Given the description of an element on the screen output the (x, y) to click on. 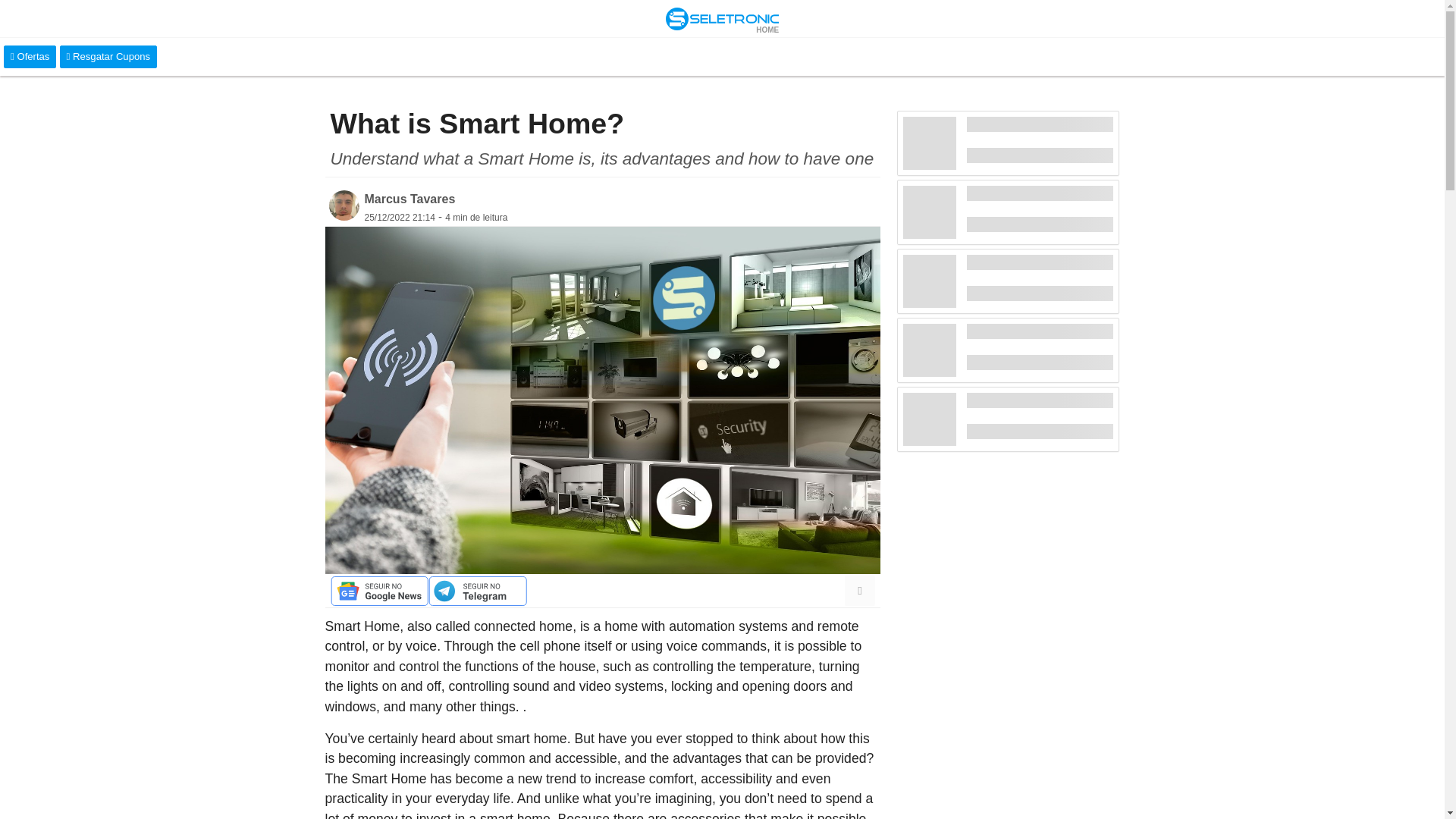
Marcus Tavares (409, 198)
Ofertas (30, 56)
Home (766, 30)
HOME (766, 30)
Home (721, 18)
Resgatar Cupons (108, 56)
